Given the description of an element on the screen output the (x, y) to click on. 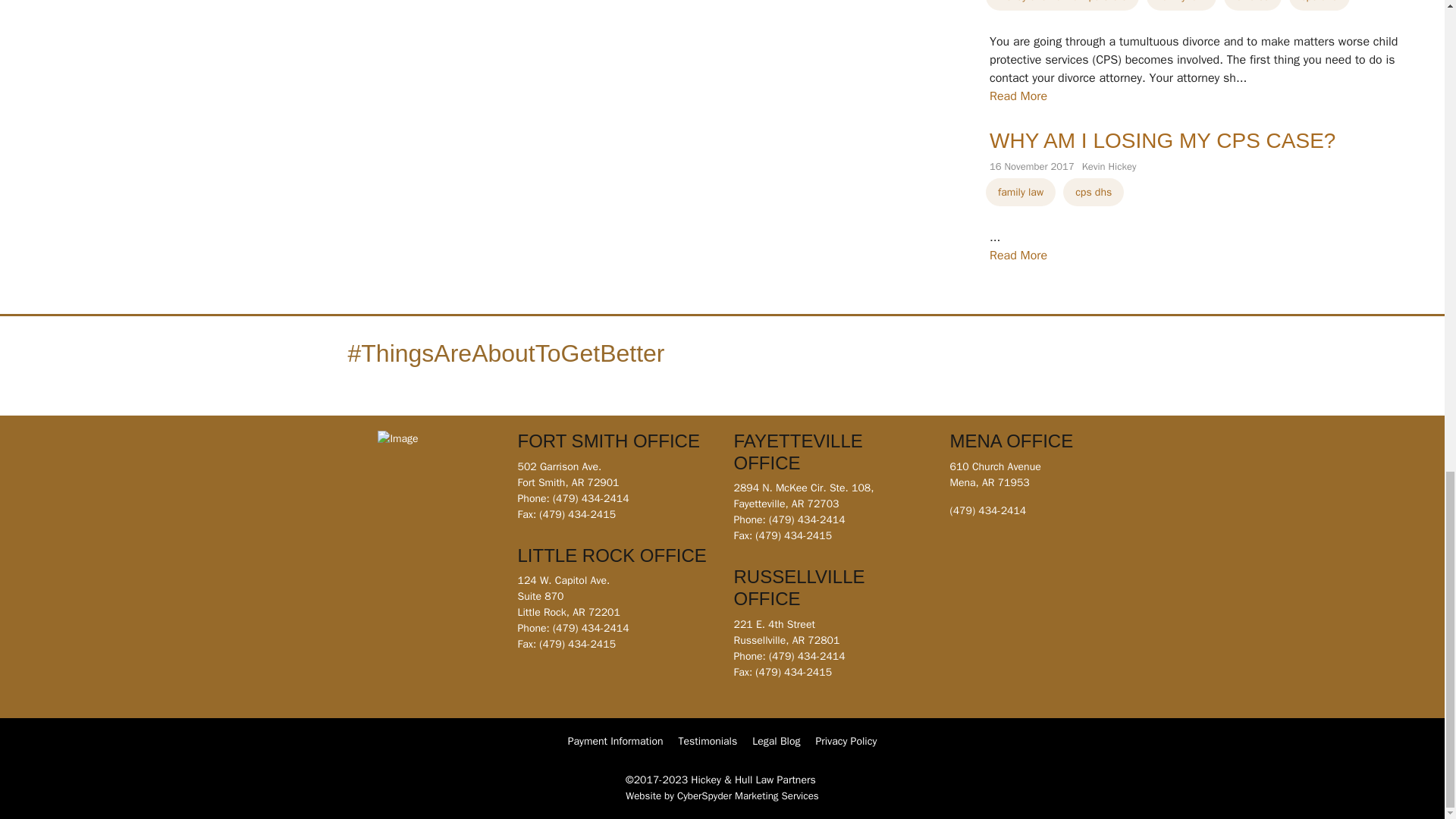
facebook (852, 362)
Instagram (876, 362)
YouTube (900, 362)
Twitter (925, 362)
